Given the description of an element on the screen output the (x, y) to click on. 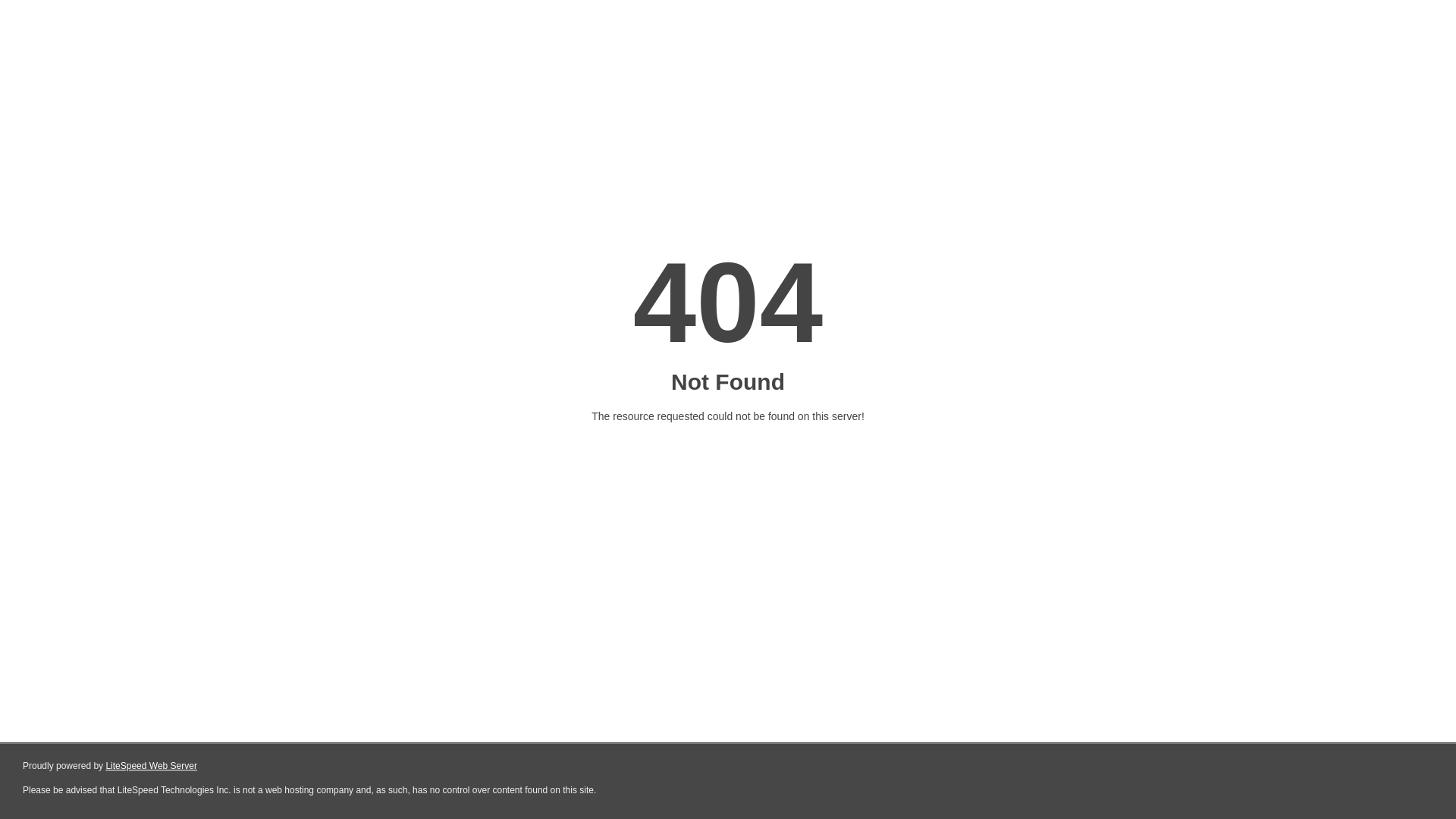
LiteSpeed Web Server Element type: text (151, 765)
